Given the description of an element on the screen output the (x, y) to click on. 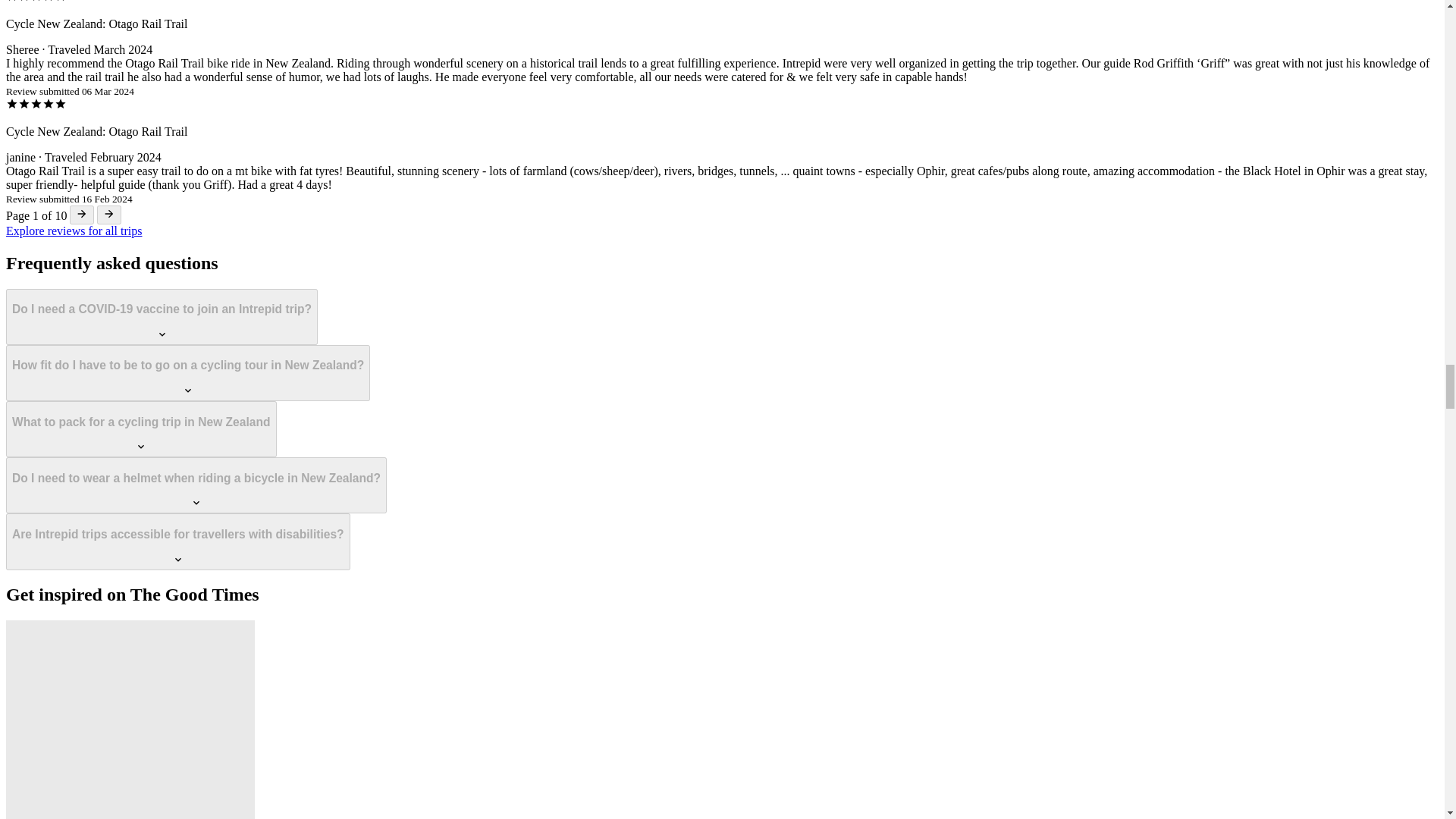
Next (108, 214)
Previous (81, 214)
